Given the description of an element on the screen output the (x, y) to click on. 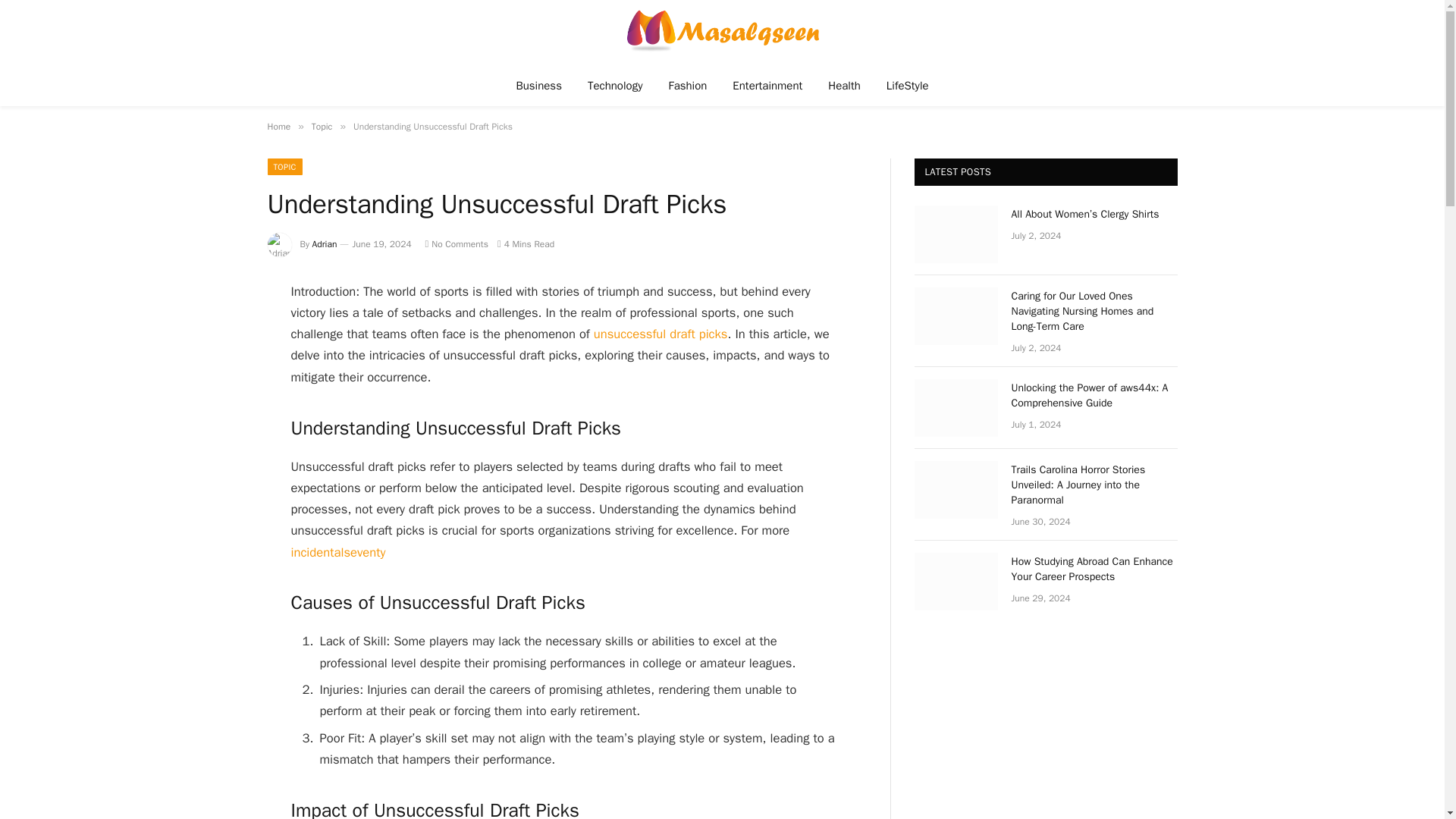
Unlocking the Power of aws44x: A Comprehensive Guide (955, 407)
Business (538, 85)
unsuccessful draft picks (661, 333)
Technology (615, 85)
Health (844, 85)
Posts by Adrian (325, 244)
Home (277, 126)
TOPIC (283, 166)
Topic (322, 126)
Masalqseen (721, 32)
How Studying Abroad Can Enhance Your Career Prospects (955, 581)
Adrian (325, 244)
No Comments (456, 244)
